Given the description of an element on the screen output the (x, y) to click on. 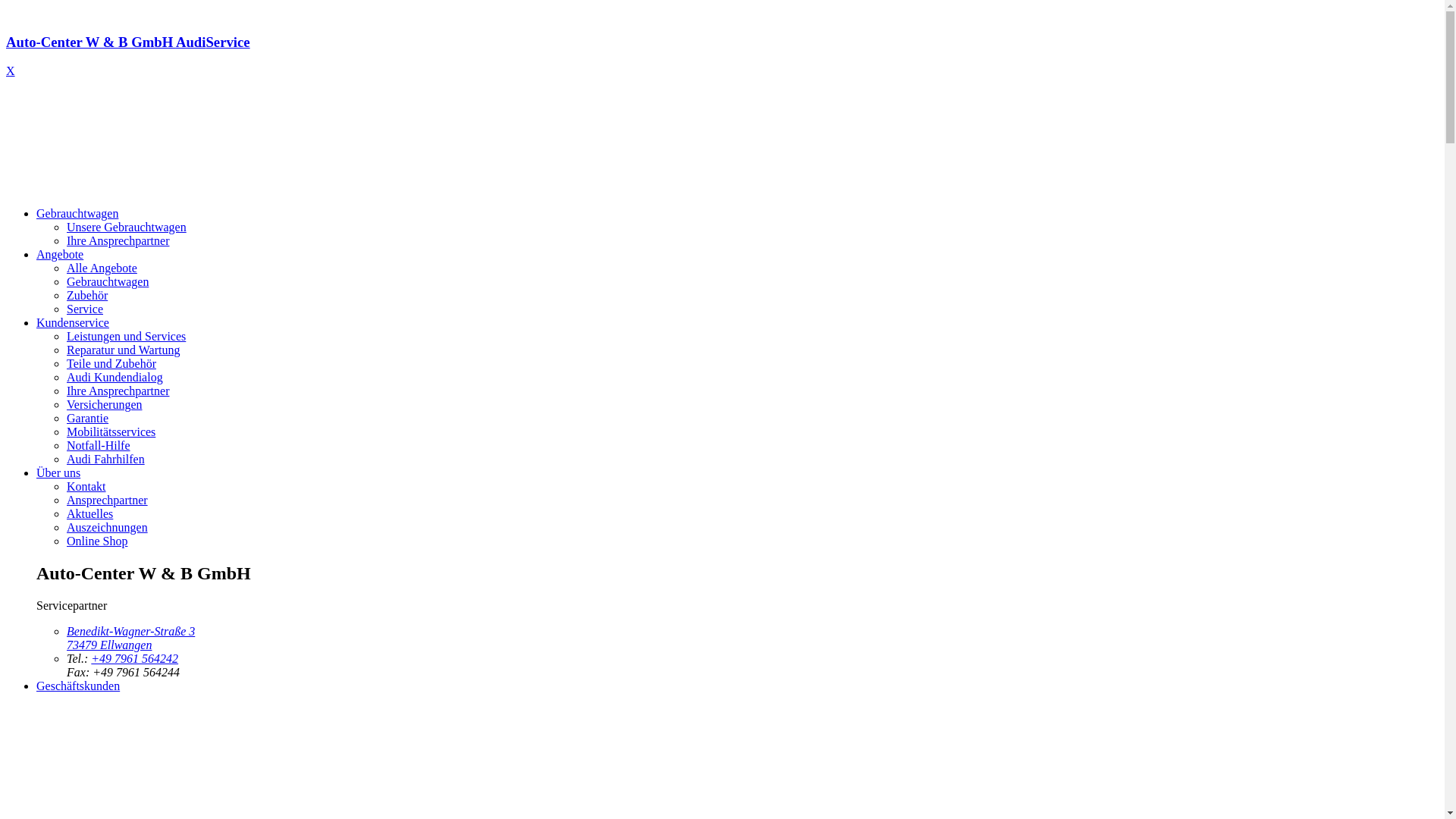
Online Shop Element type: text (96, 540)
Audi Kundendialog Element type: text (114, 376)
Notfall-Hilfe Element type: text (98, 445)
Auto-Center W & B GmbH AudiService Element type: text (722, 56)
Angebote Element type: text (59, 253)
Gebrauchtwagen Element type: text (107, 281)
Kundenservice Element type: text (72, 322)
Service Element type: text (84, 308)
Kontakt Element type: text (86, 486)
Gebrauchtwagen Element type: text (77, 213)
Auszeichnungen Element type: text (106, 526)
Ihre Ansprechpartner Element type: text (117, 240)
Aktuelles Element type: text (89, 513)
Ansprechpartner Element type: text (106, 499)
Leistungen und Services Element type: text (125, 335)
+49 7961 564242 Element type: text (134, 658)
Ihre Ansprechpartner Element type: text (117, 390)
Audi Fahrhilfen Element type: text (105, 458)
Garantie Element type: text (87, 417)
Unsere Gebrauchtwagen Element type: text (126, 226)
Alle Angebote Element type: text (101, 267)
X Element type: text (10, 70)
Versicherungen Element type: text (104, 404)
Reparatur und Wartung Element type: text (122, 349)
